Given the description of an element on the screen output the (x, y) to click on. 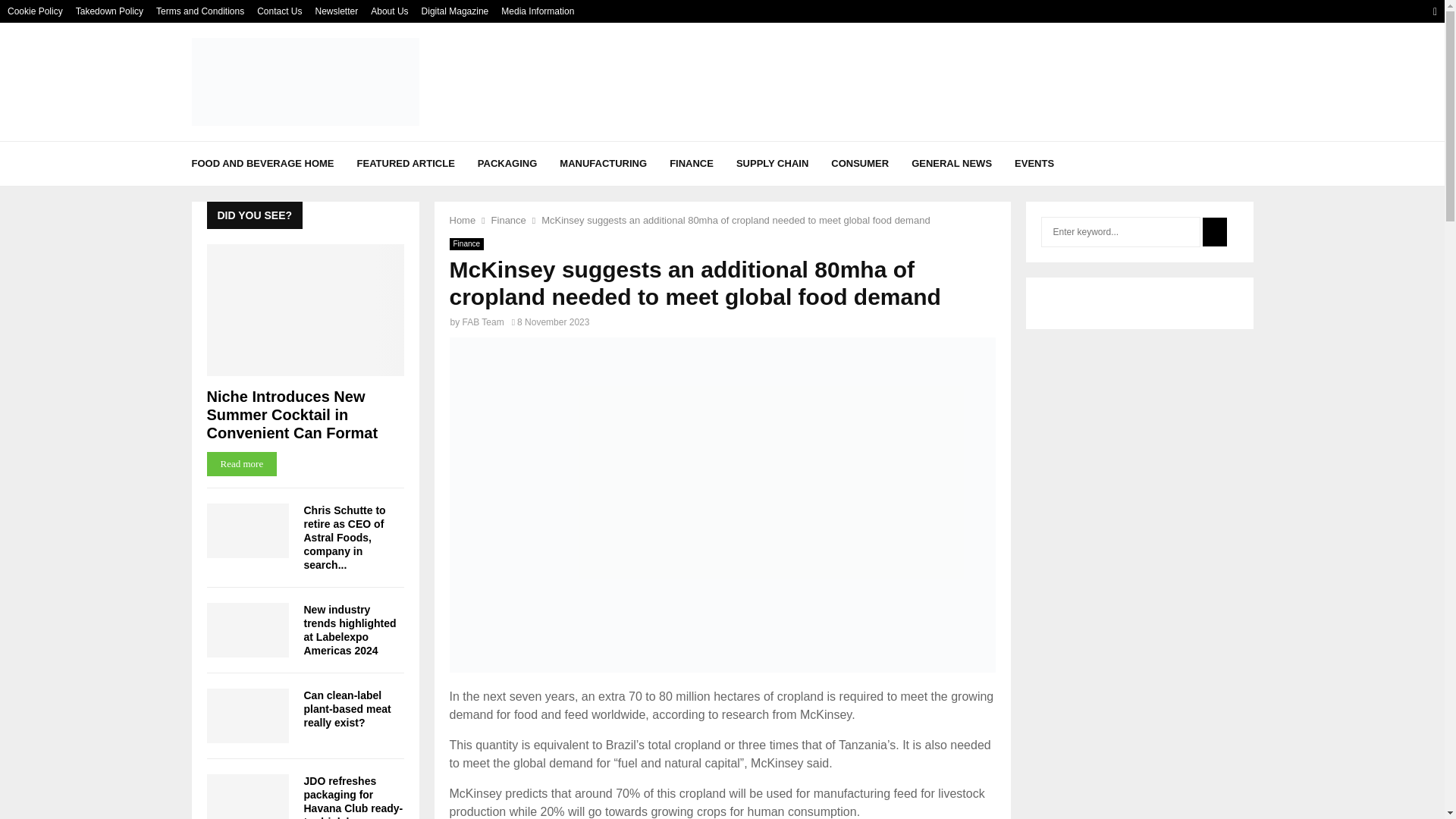
CONSUMER (859, 163)
SUPPLY CHAIN (772, 163)
Terms and Conditions (199, 11)
GENERAL NEWS (951, 163)
FAB Team (483, 321)
FOOD AND BEVERAGE HOME (261, 163)
